Given the description of an element on the screen output the (x, y) to click on. 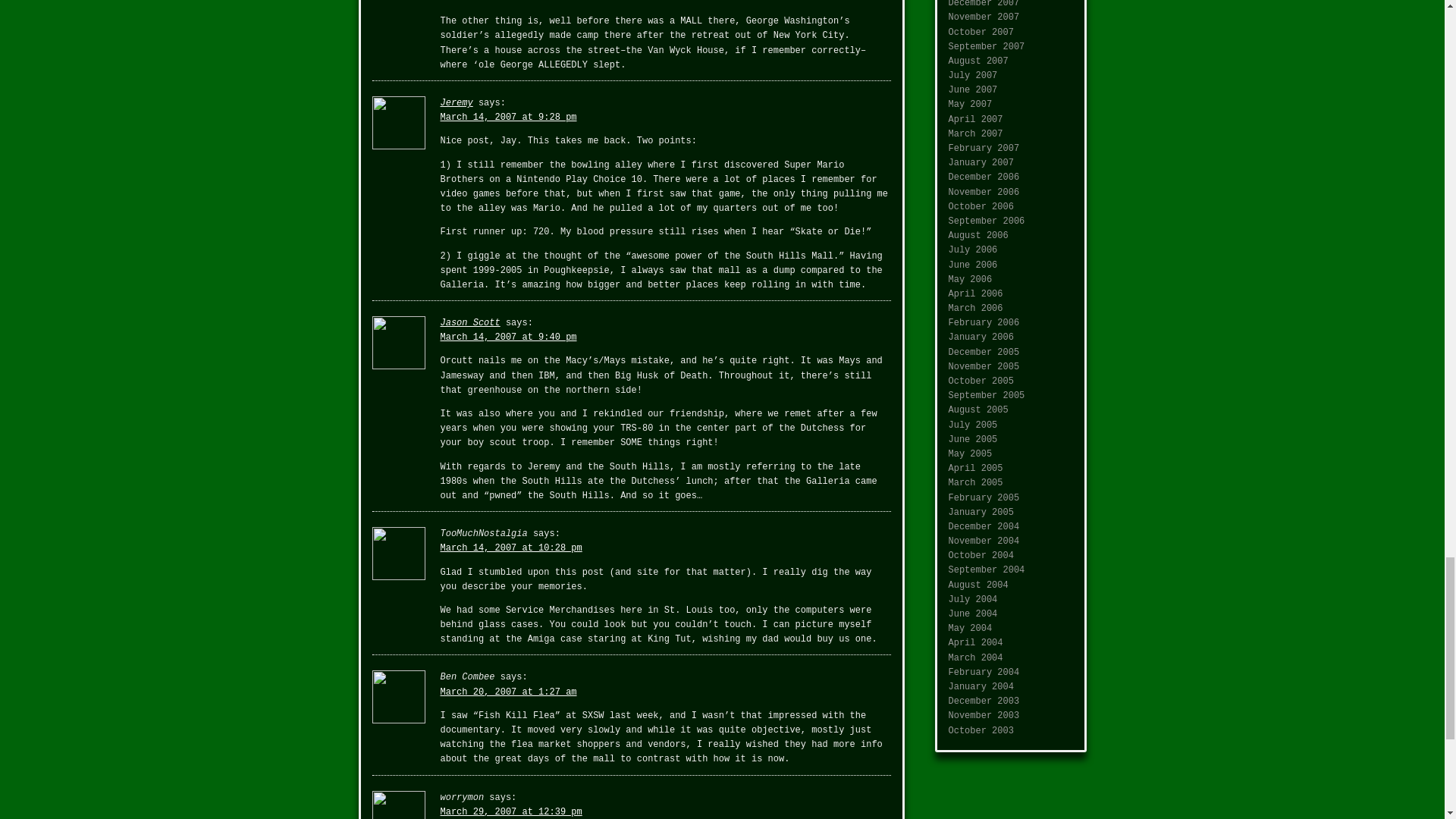
March 14, 2007 at 10:28 pm (509, 547)
Jeremy (455, 102)
Jason Scott (469, 322)
March 20, 2007 at 1:27 am (507, 692)
March 29, 2007 at 12:39 pm (509, 811)
March 14, 2007 at 9:28 pm (507, 117)
March 14, 2007 at 9:40 pm (507, 337)
